Given the description of an element on the screen output the (x, y) to click on. 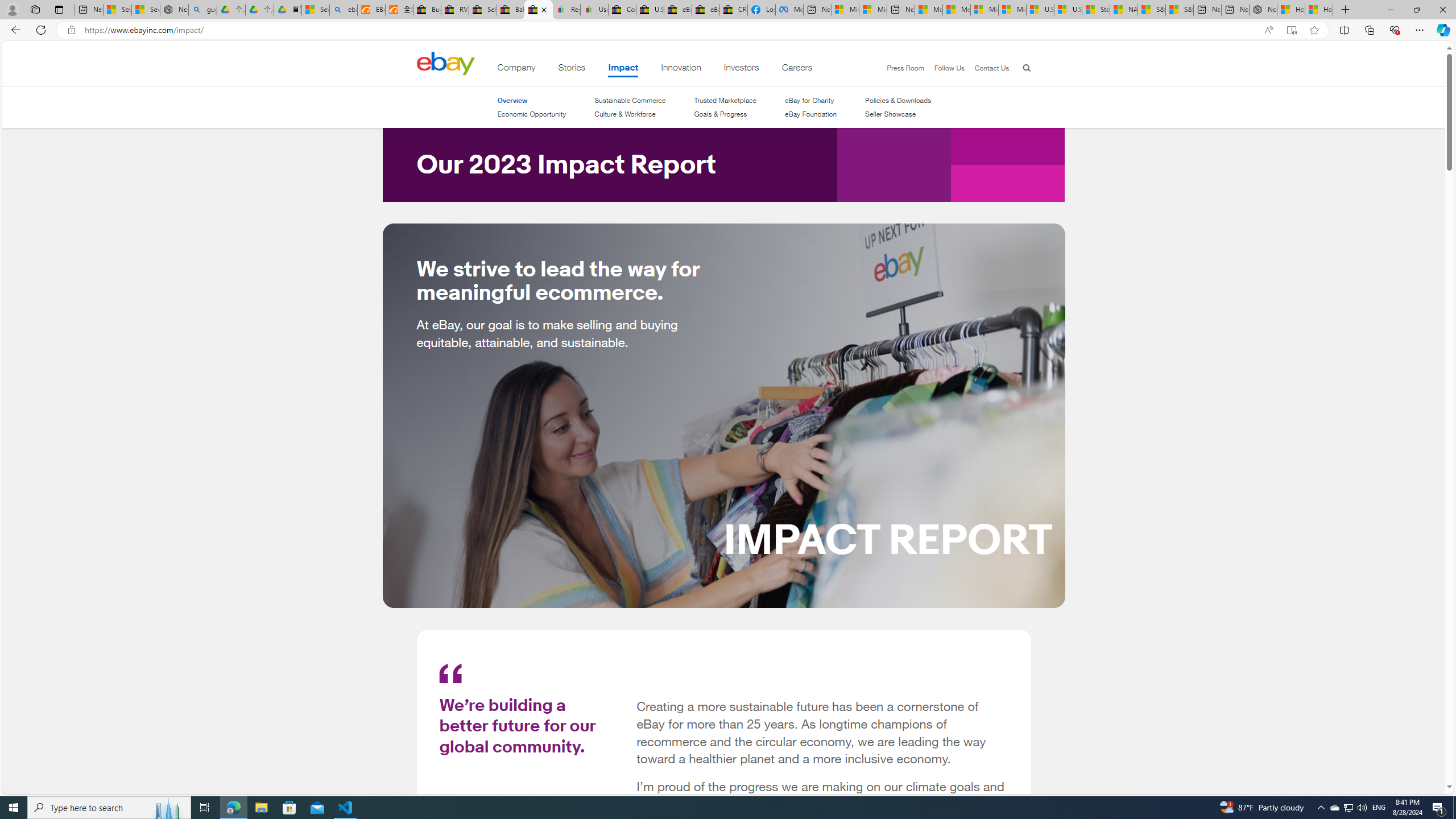
Goals & Progress (720, 113)
How to Use a Monitor With Your Closed Laptop (1319, 9)
Press Room (900, 68)
eBay for Charity (810, 100)
Economic Opportunity (531, 113)
Goals & Progress (725, 113)
eBay seller Malena Martinez organizes vintage fashion items. (723, 415)
Investors (740, 69)
